Given the description of an element on the screen output the (x, y) to click on. 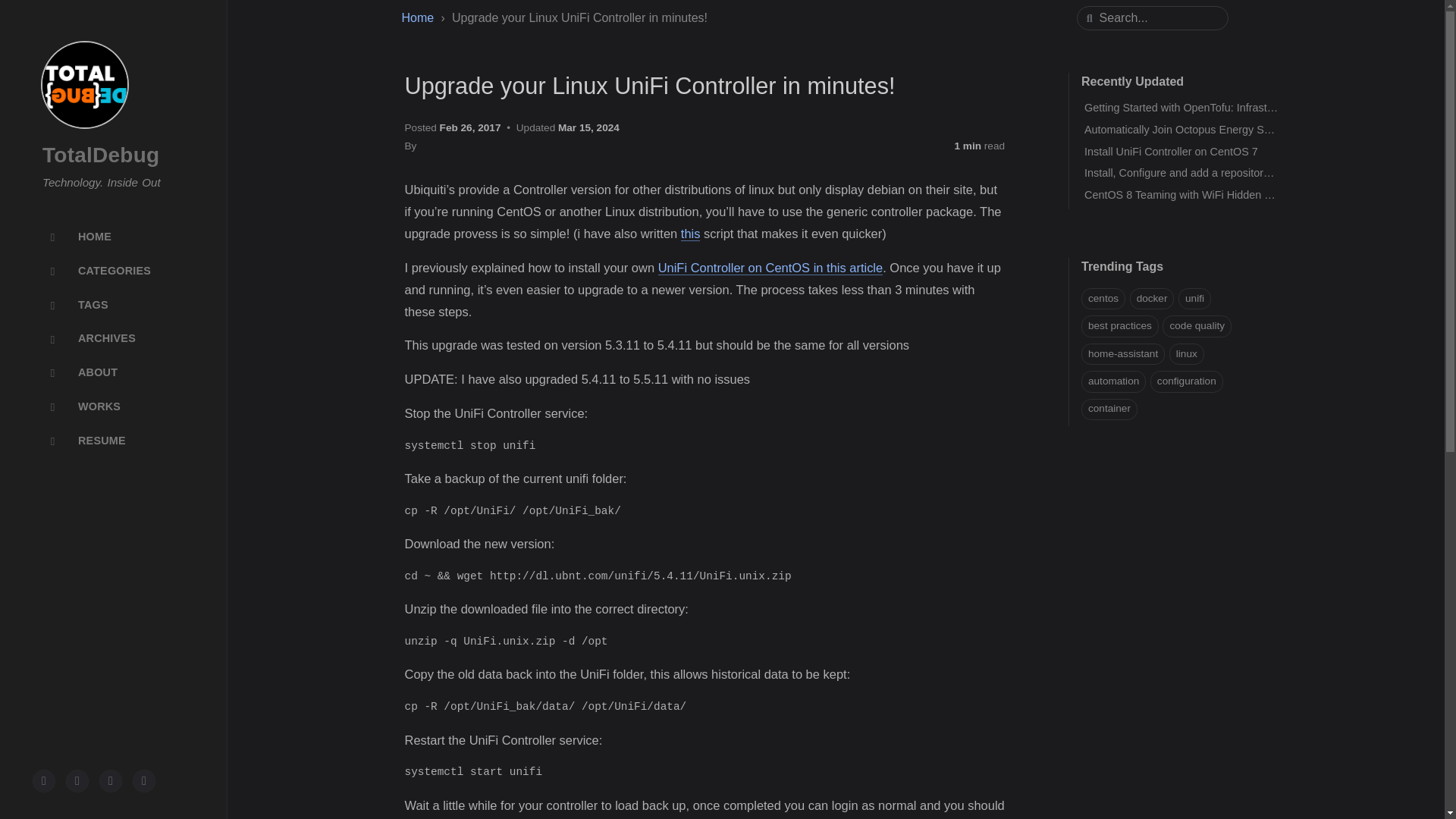
UniFi Controller on CentOS in this article (770, 268)
docker (1151, 298)
RESUME (113, 440)
ABOUT (113, 373)
Automatically Join Octopus Energy Saving Sessions (1211, 129)
CentOS 8 Teaming with WiFi Hidden SSID using nmcli (1216, 194)
this (690, 233)
CATEGORIES (113, 270)
TotalDebug (100, 155)
